Given the description of an element on the screen output the (x, y) to click on. 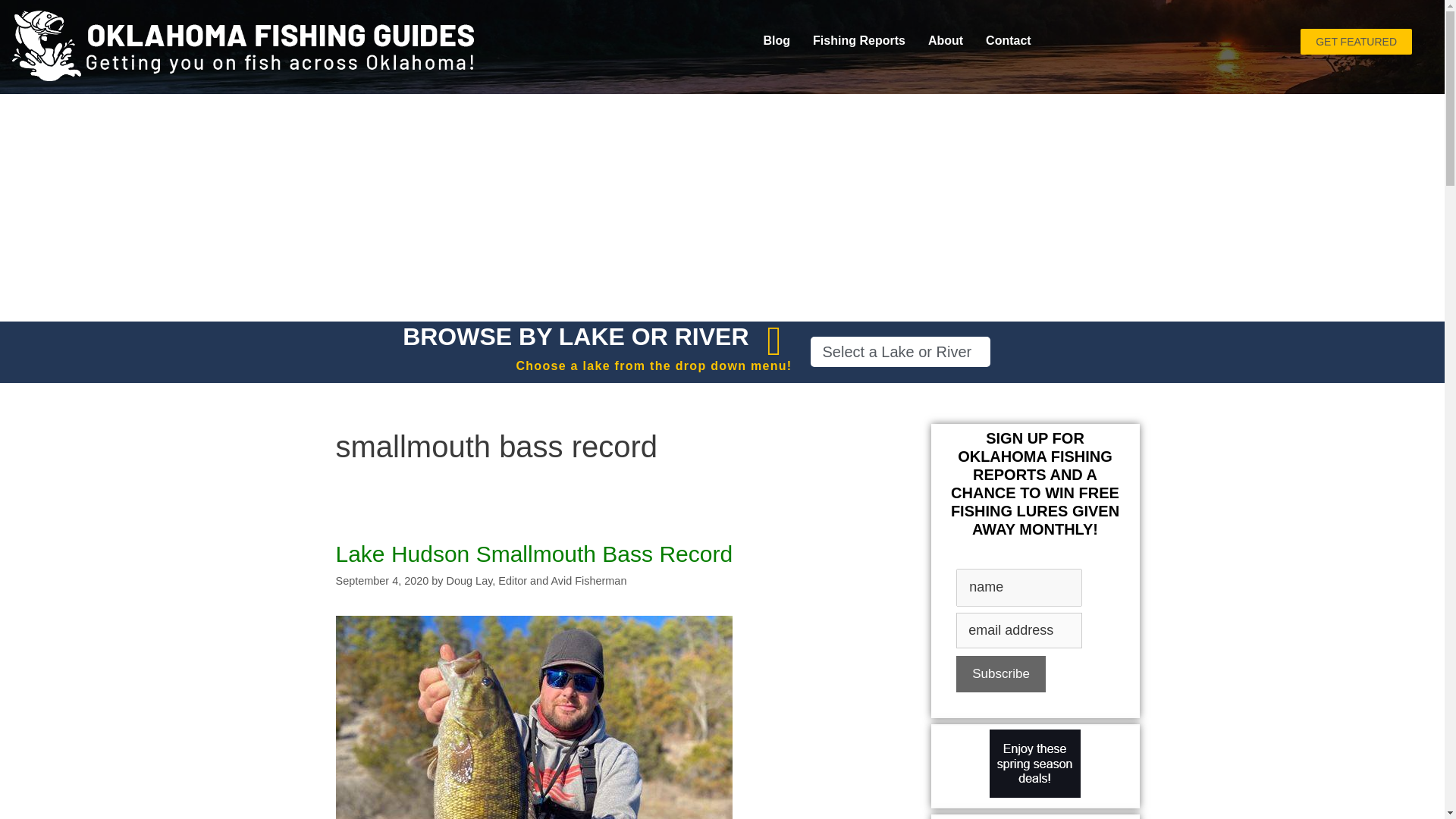
Subscribe (1000, 674)
Fishing Reports (859, 40)
GET FEATURED (1356, 41)
View all posts by Doug Lay, Editor and Avid Fisherman (536, 580)
Contact (1008, 40)
Select a Lake or River (900, 351)
Blog (777, 40)
About (945, 40)
